Given the description of an element on the screen output the (x, y) to click on. 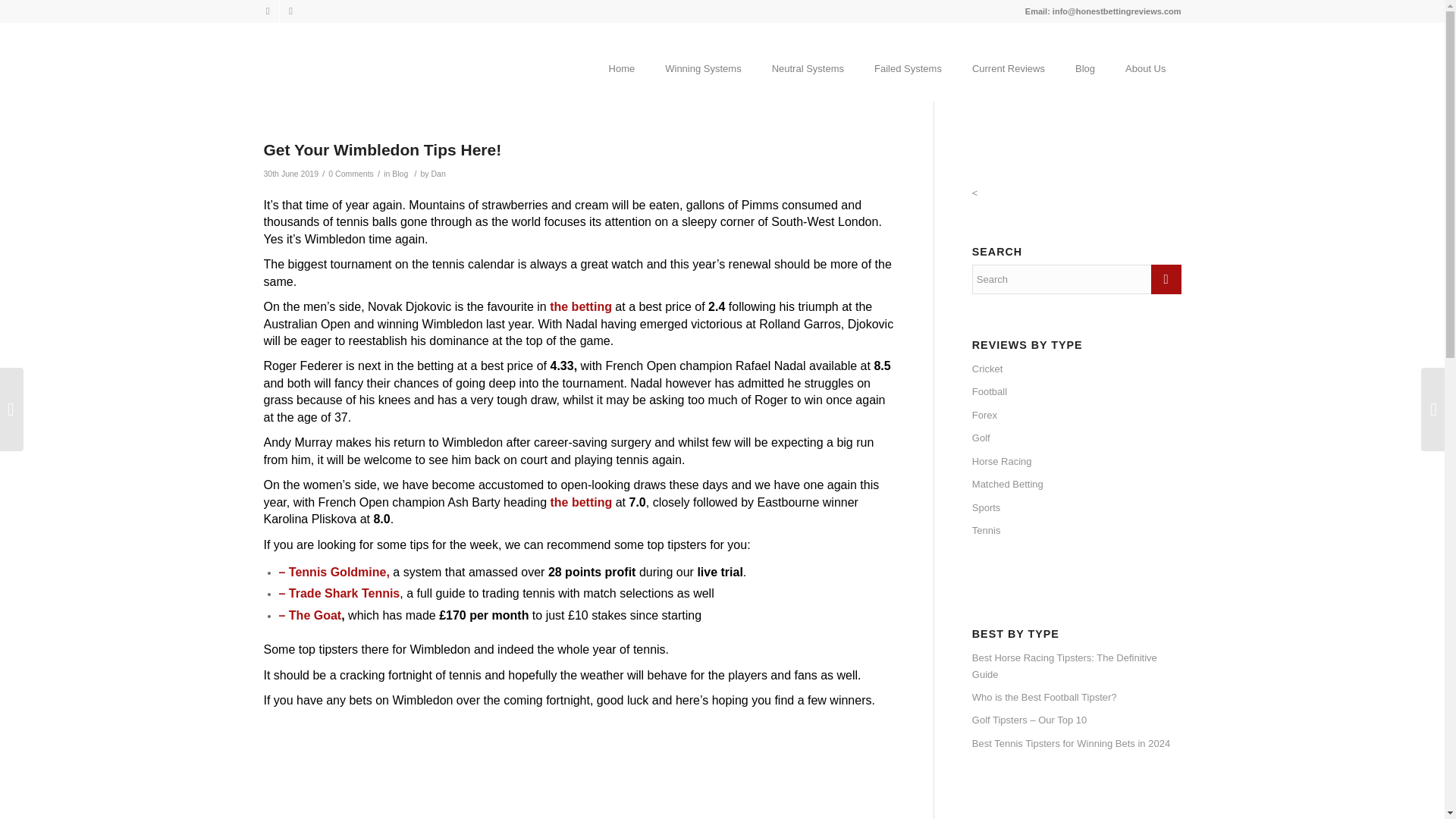
Permanent Link: Get Your Wimbledon Tips Here! (382, 149)
Facebook (267, 11)
Current Reviews (1007, 56)
Winning Systems (702, 56)
Twitter (290, 11)
Posts by Dan (437, 173)
Neutral Systems (808, 56)
Failed Systems (907, 56)
About Us (1144, 56)
